Given the description of an element on the screen output the (x, y) to click on. 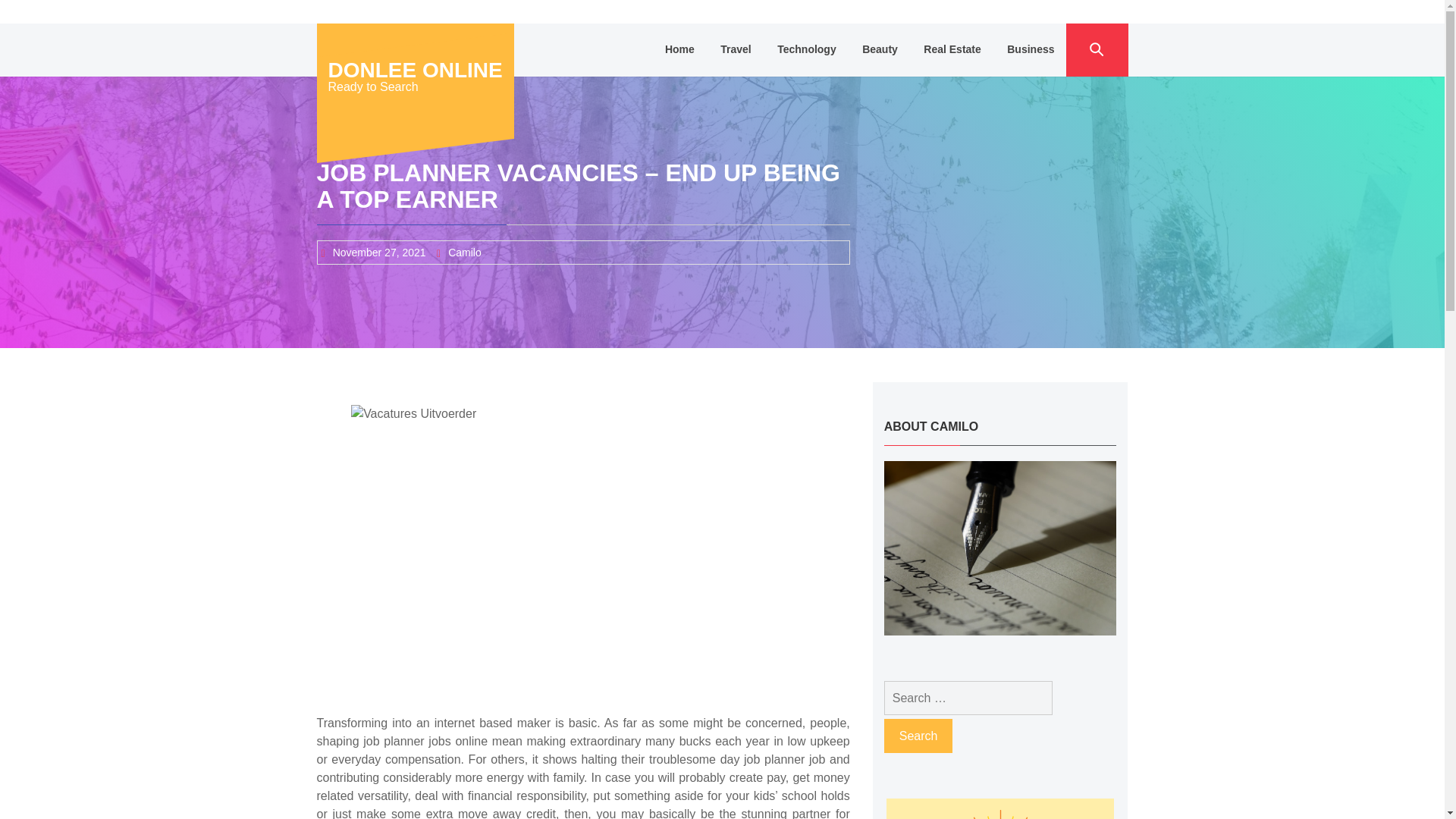
Technology (806, 49)
Real Estate (951, 49)
Search (918, 735)
Home (679, 49)
November 27, 2021 (379, 252)
DONLEE ONLINE (414, 69)
Business (1030, 49)
Search (918, 735)
Beauty (879, 49)
Search (918, 735)
Travel (735, 49)
Camilo (464, 252)
